Given the description of an element on the screen output the (x, y) to click on. 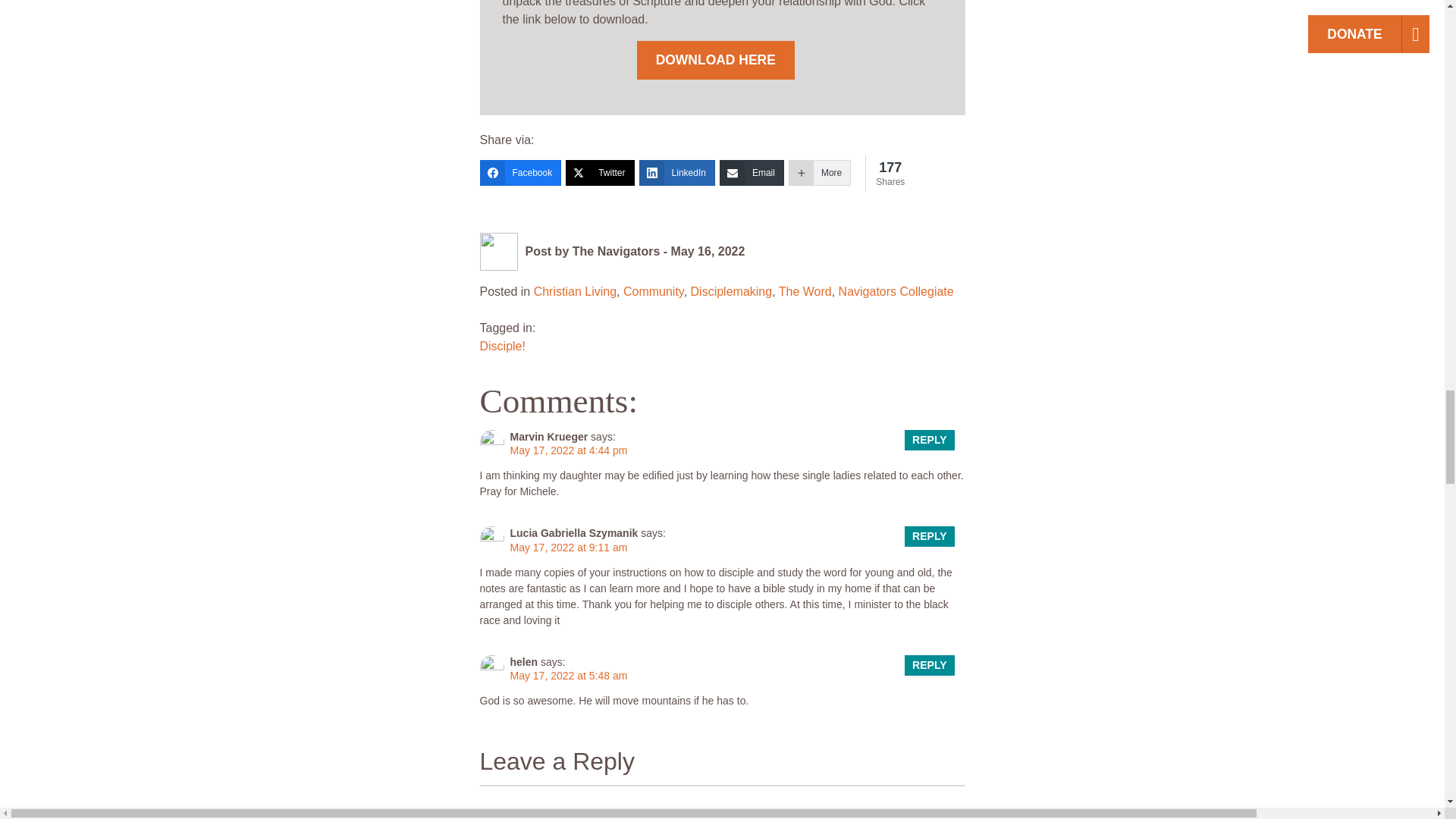
Comment Form (721, 801)
